Given the description of an element on the screen output the (x, y) to click on. 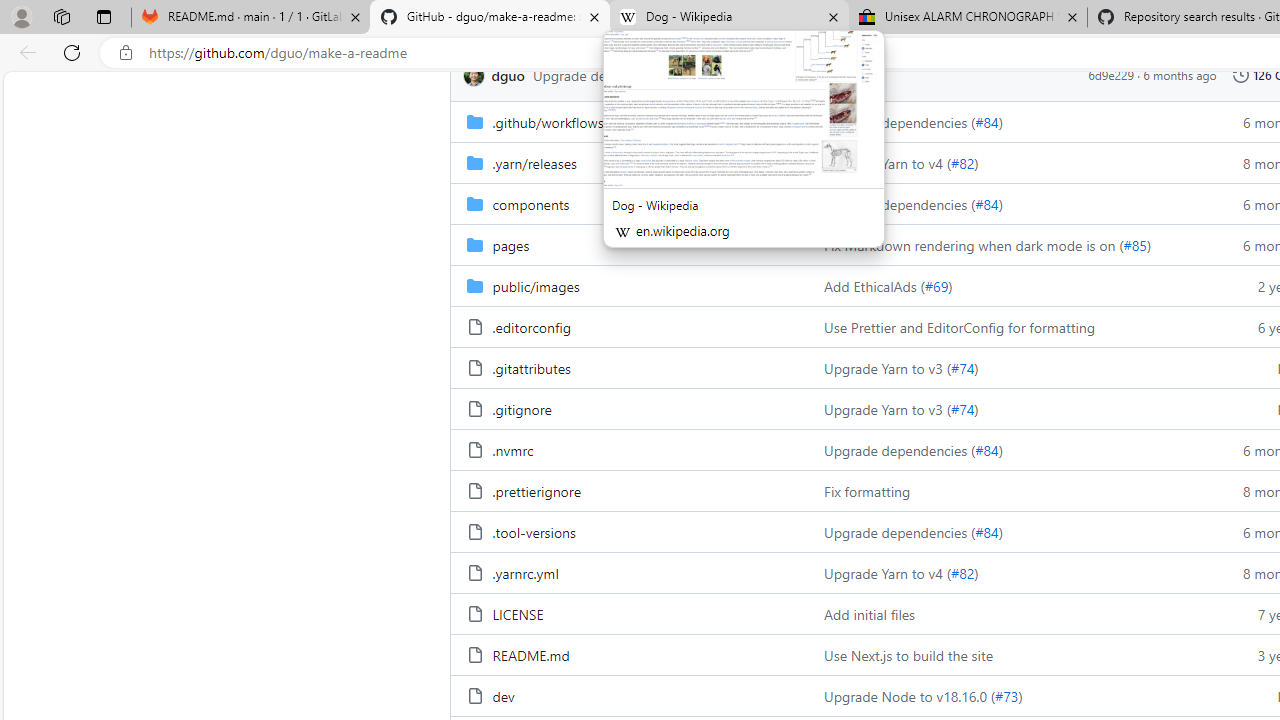
.yarn/releases, (Directory) (534, 162)
.prettierignore, (File) (536, 490)
.yarnrc.yml, (File) (525, 573)
Upgrade Yarn to v3 (#74) (1008, 408)
View site information (125, 53)
Add EthicalAds ( (874, 285)
Personal Profile (21, 16)
.gitignore, (File) (521, 408)
Fix Markdown rendering when dark mode is on (#85) (1008, 243)
dev, (File) (502, 696)
LICENSE, (File) (517, 614)
Dog - Wikipedia (729, 17)
Commit 6d9e229 (1111, 75)
.gitattributes, (File) (629, 367)
Add initial files (870, 614)
